Given the description of an element on the screen output the (x, y) to click on. 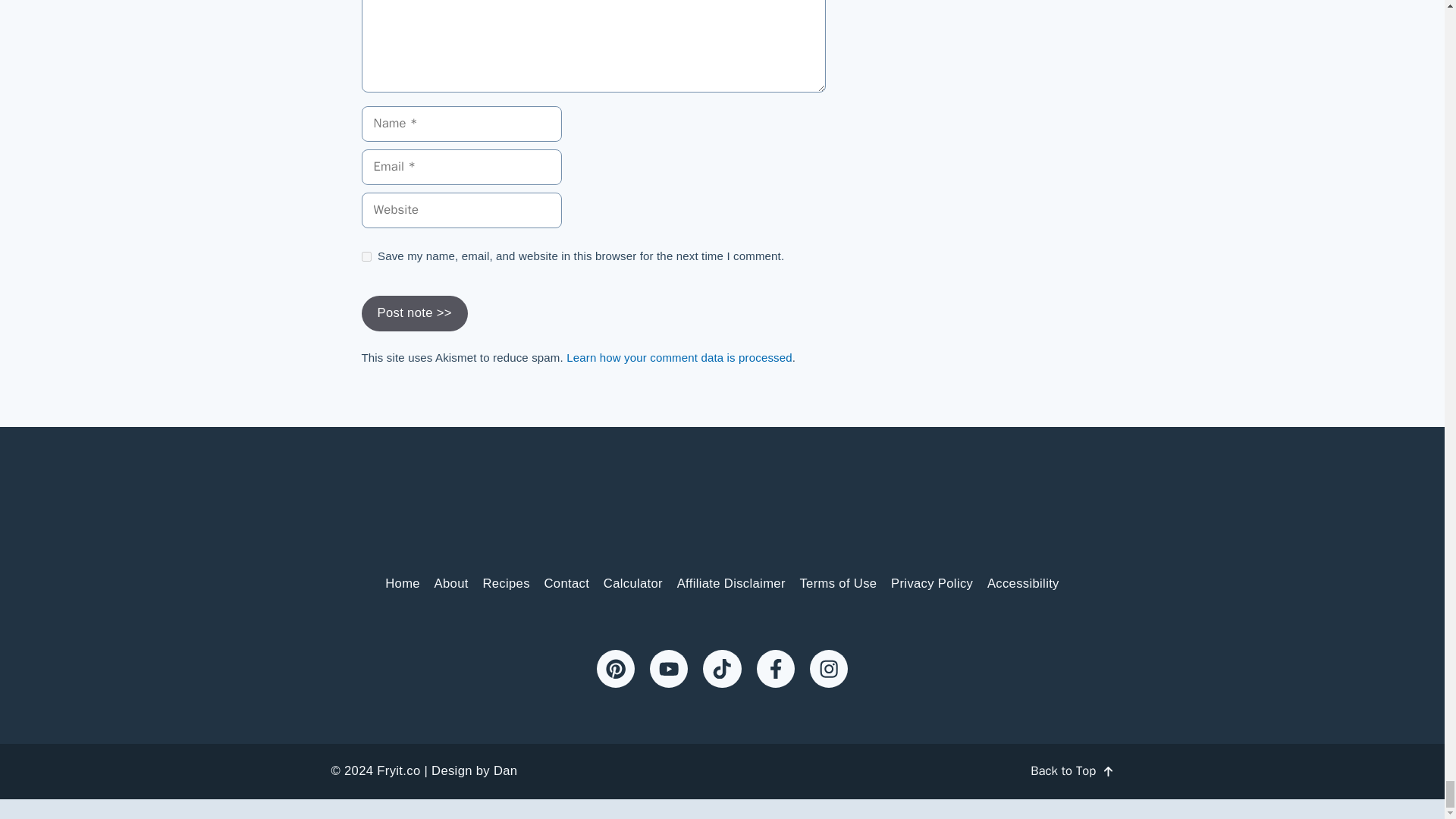
yes (366, 256)
